Given the description of an element on the screen output the (x, y) to click on. 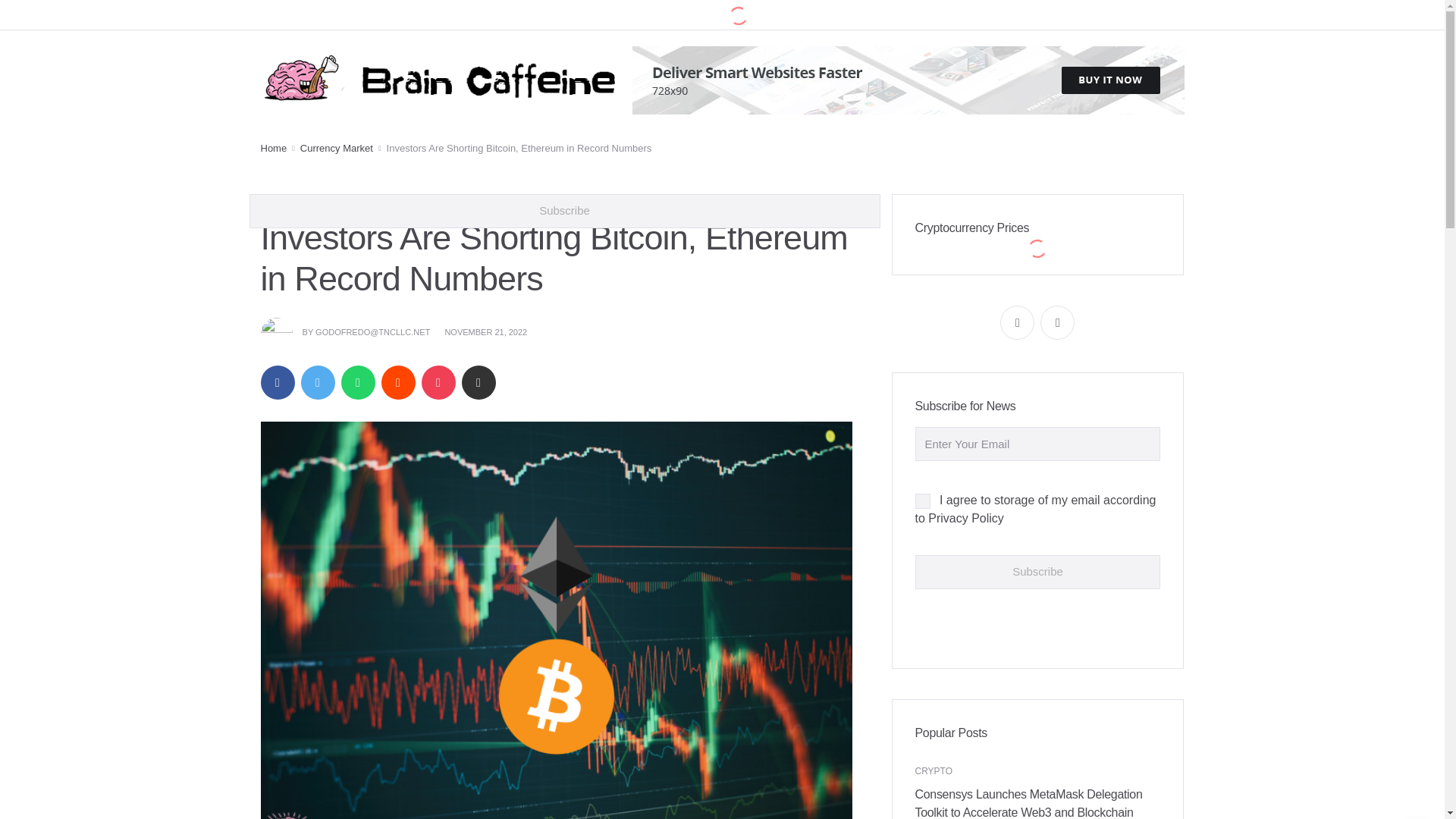
BITCOIN (279, 202)
CURRENCY MARKET (393, 202)
Currency Market (335, 148)
1 (922, 500)
CRYPTO (323, 202)
Home (273, 148)
Subscribe (563, 211)
Subscribe (1037, 571)
Twitter (1016, 322)
Instagram (1057, 322)
